Given the description of an element on the screen output the (x, y) to click on. 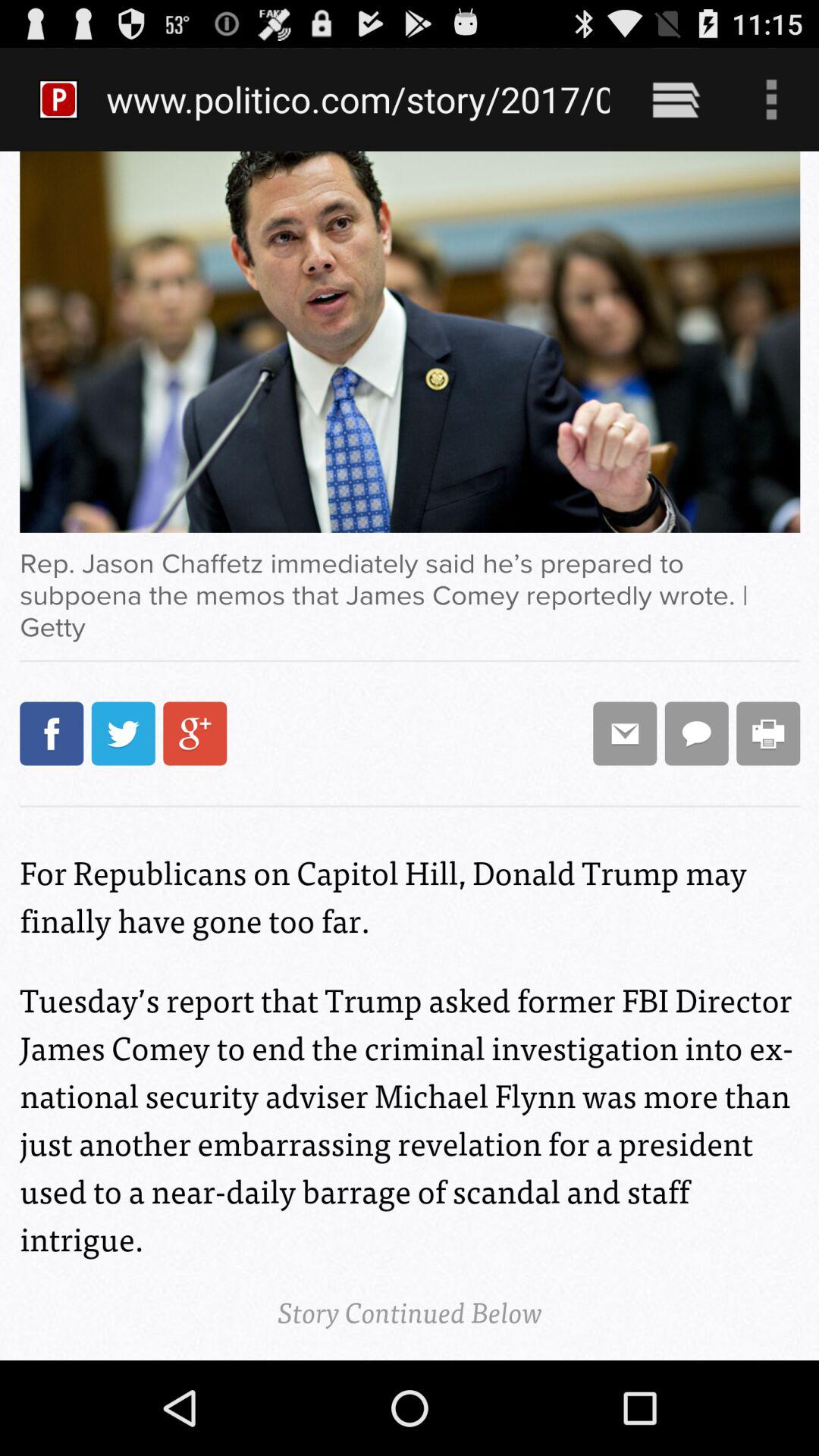
click icon at the top (357, 99)
